Given the description of an element on the screen output the (x, y) to click on. 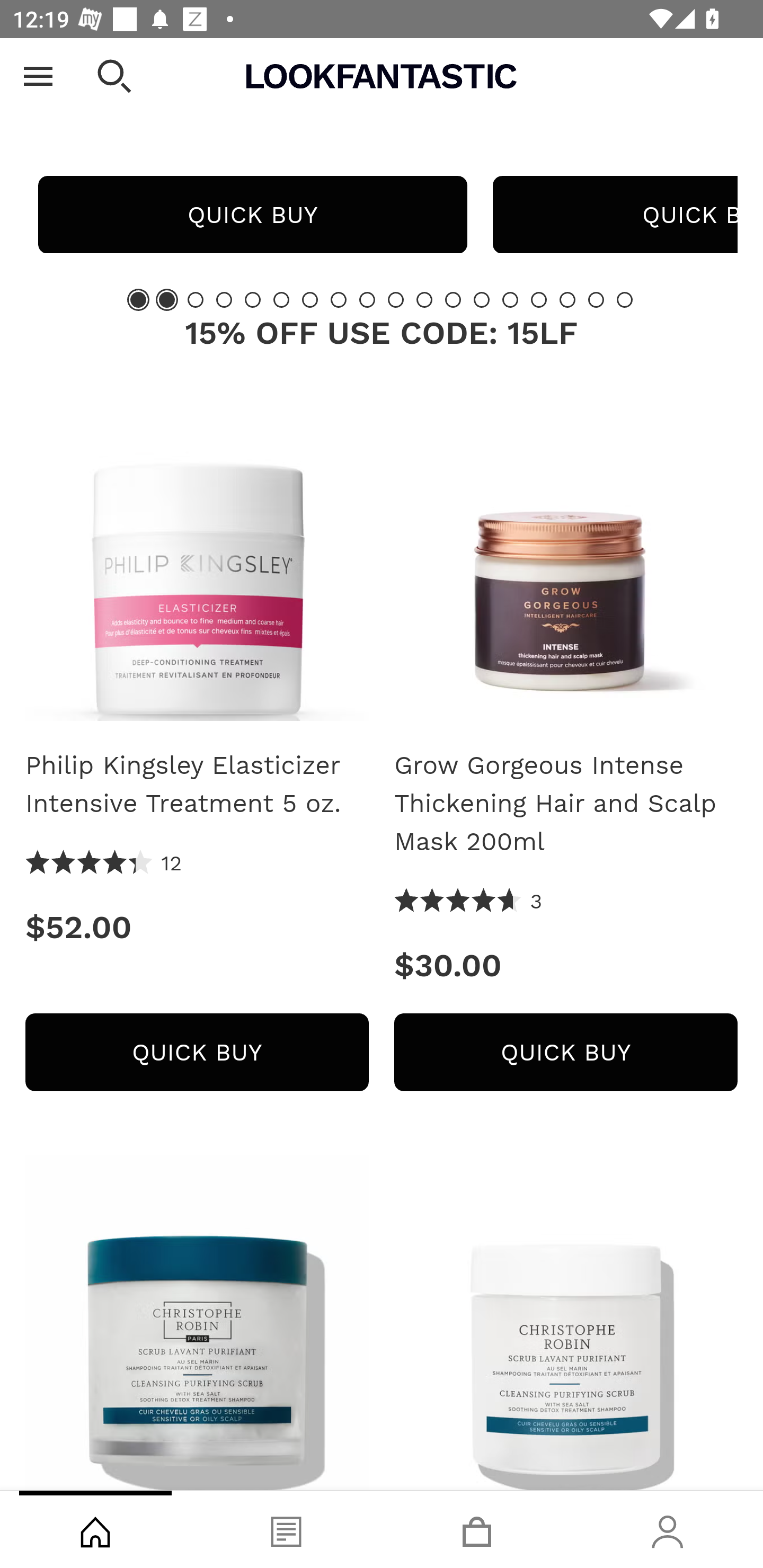
QUICK BUY NATASHA DENONA I NEED A NUDE PALETTE (252, 214)
Showing Slide 1 (Current Item) (138, 299)
Showing Slide 2 (Current Item) (166, 299)
Slide 3 (195, 299)
Slide 4 (223, 299)
Slide 5 (252, 299)
Slide 6 (281, 299)
Slide 7 (310, 299)
Slide 8 (338, 299)
Slide 9 (367, 299)
Slide 10 (395, 299)
Slide 11 (424, 299)
Slide 12 (452, 299)
Slide 13 (481, 299)
Slide 14 (510, 299)
Slide 15 (539, 299)
Slide 16 (567, 299)
Slide 17 (596, 299)
Slide 18 (624, 299)
4.33 Stars 12 Reviews (104, 862)
4.67 Stars 3 Reviews (468, 901)
Price: $52.00 (196, 927)
Price: $30.00 (565, 964)
Shop, tab, 1 of 4 (95, 1529)
Blog, tab, 2 of 4 (285, 1529)
Basket, tab, 3 of 4 (476, 1529)
Account, tab, 4 of 4 (667, 1529)
